Given the description of an element on the screen output the (x, y) to click on. 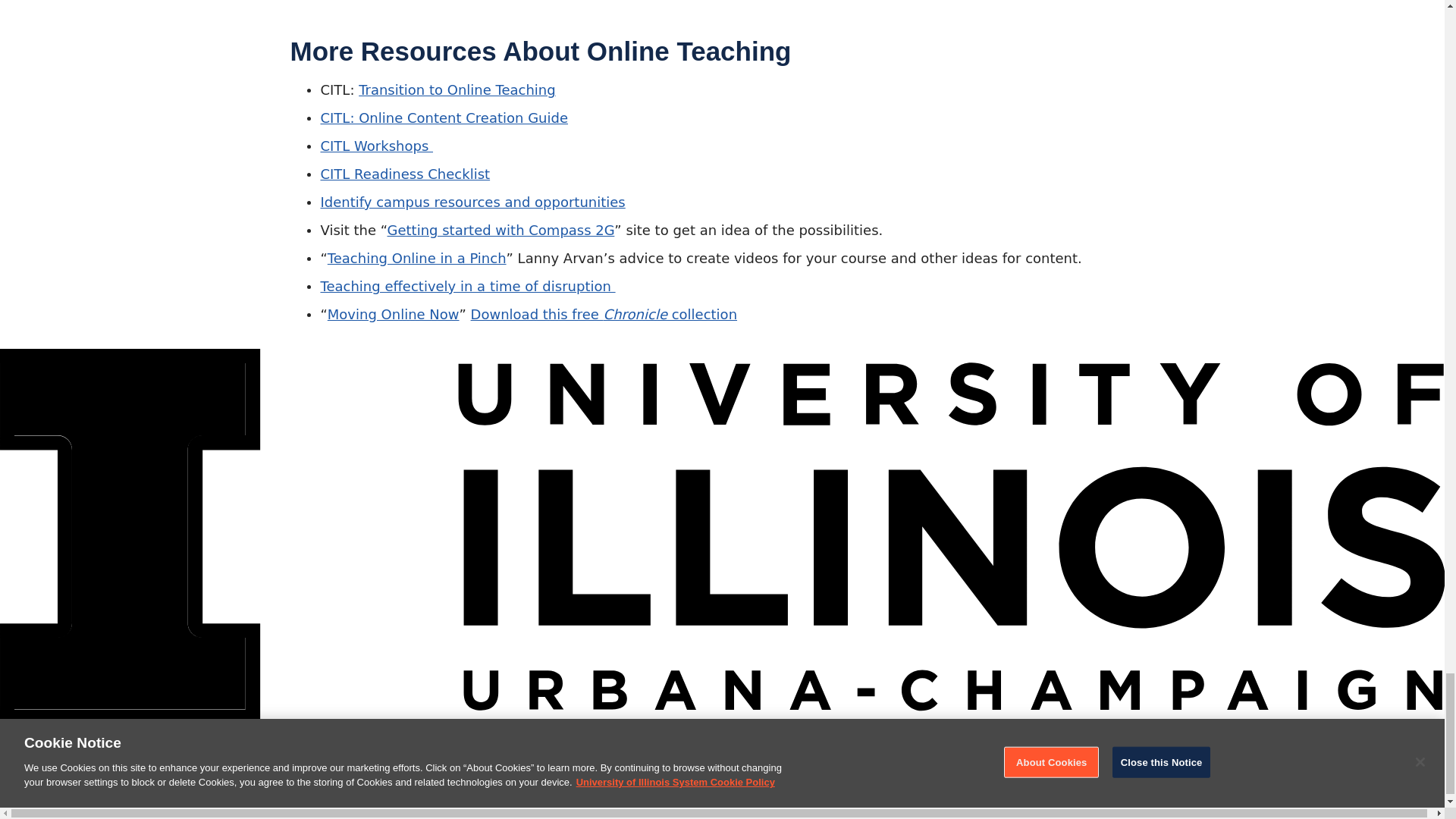
Privacy Policy (174, 795)
Download this free Chronicle collection (603, 314)
Accessibility (432, 795)
Getting started with Compass 2G (500, 229)
CITL Workshops  (376, 145)
Moving Online Now (393, 314)
Teaching Online in a Pinch (416, 258)
Identify campus resources and opportunities (472, 201)
Download this free Chronicle collection (603, 314)
Transition to Online Teaching (457, 89)
About Cookies (51, 796)
Teaching effectively in a time of disruption  (467, 286)
CITL Readiness Checklist (404, 173)
CITL: Online Content Creation Guide (443, 117)
Gies Teaching Excellence Guides and Resources (212, 739)
